Given the description of an element on the screen output the (x, y) to click on. 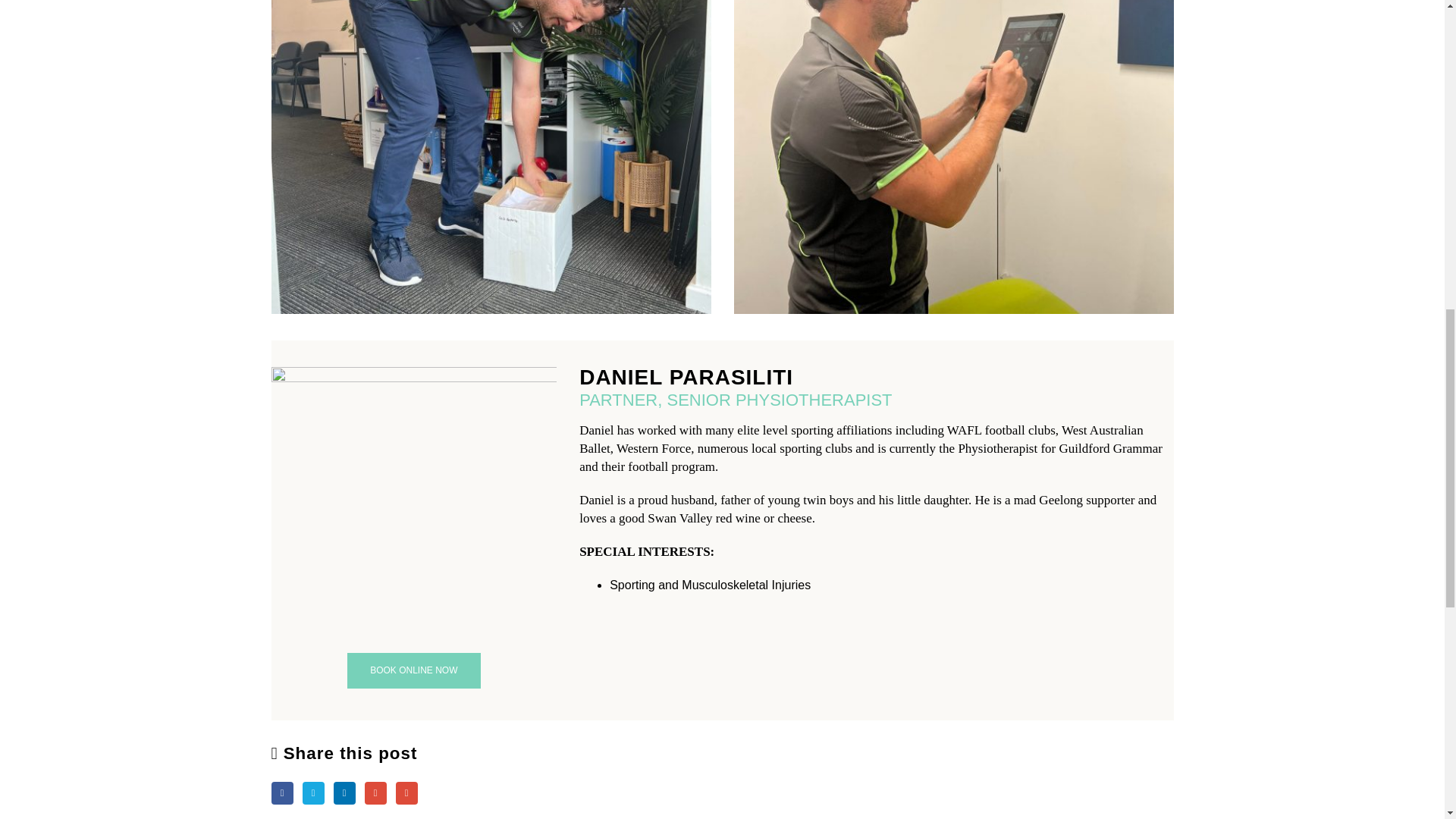
Email (406, 792)
Facebook (282, 792)
Twitter (313, 792)
LinkedIn (344, 792)
